Given the description of an element on the screen output the (x, y) to click on. 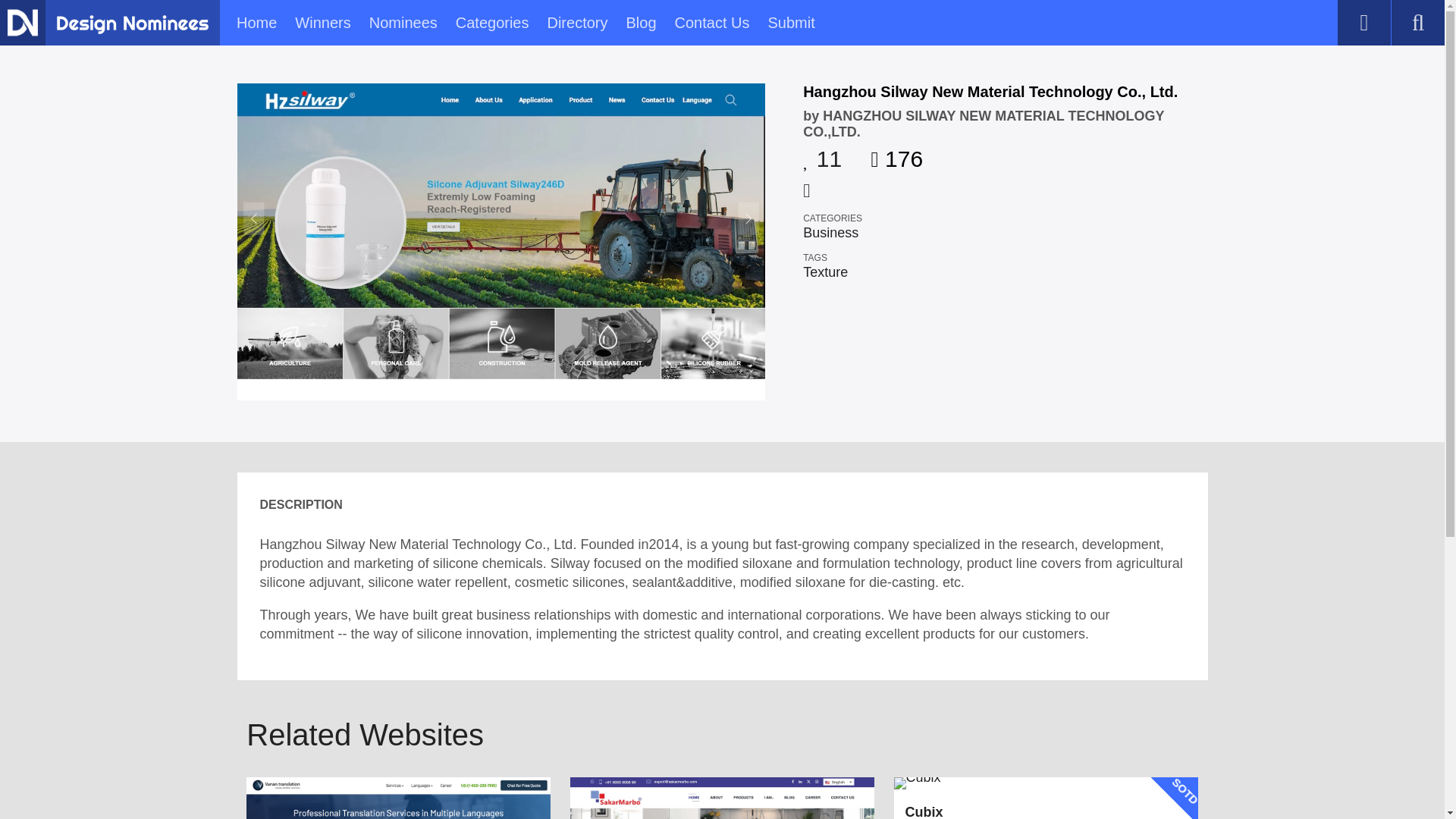
Categories (492, 22)
Texture (825, 272)
Contact Us (712, 22)
Submit (790, 22)
Business (831, 232)
Directory (577, 22)
Design Nominees (132, 24)
Design Nominees (22, 22)
Winners (322, 22)
Nominees (403, 22)
